Given the description of an element on the screen output the (x, y) to click on. 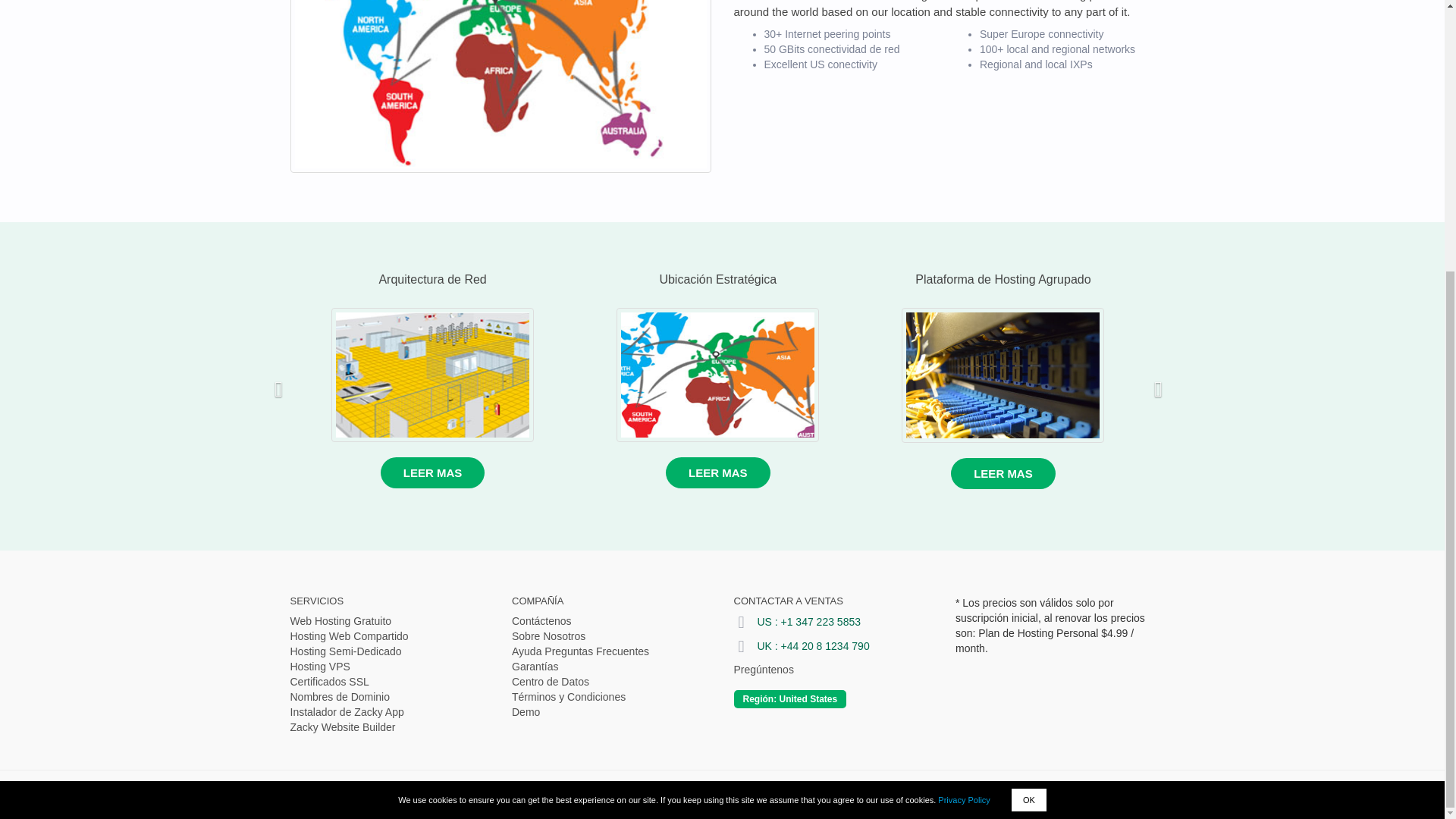
LEER MAS (432, 472)
LEER MAS (717, 472)
LEER MAS (1002, 472)
